Given the description of an element on the screen output the (x, y) to click on. 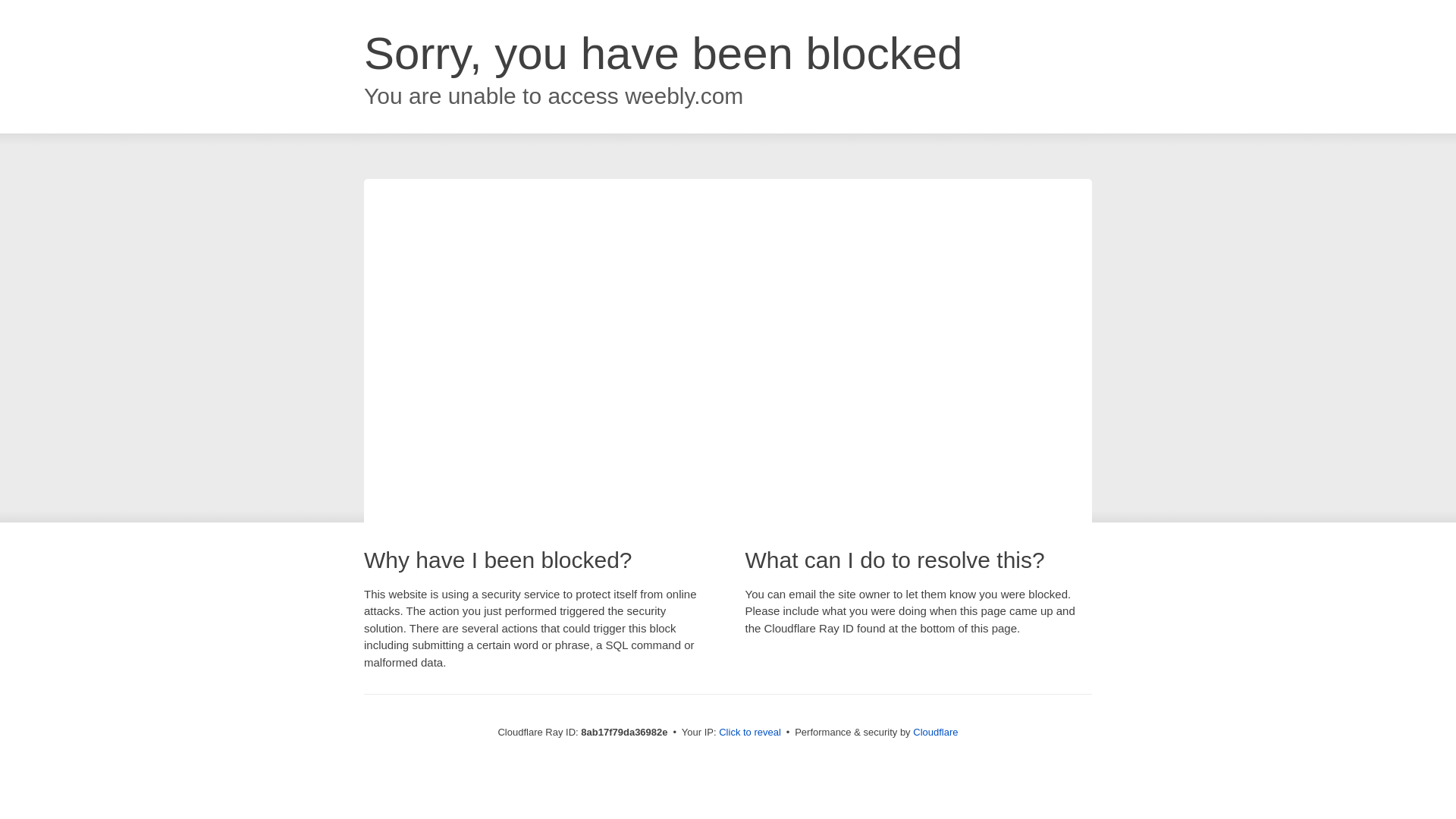
Cloudflare (935, 731)
Click to reveal (749, 732)
